Given the description of an element on the screen output the (x, y) to click on. 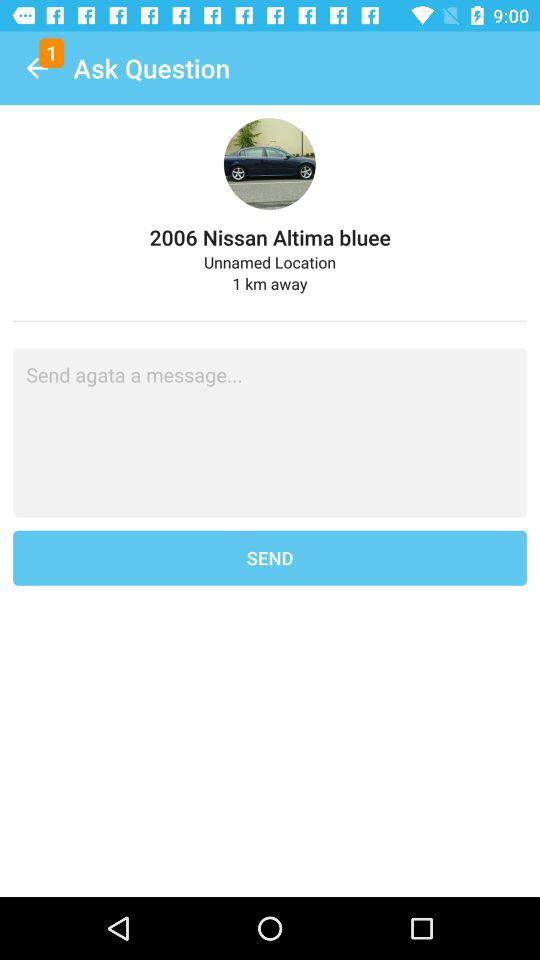
click item next to ask question icon (36, 68)
